Given the description of an element on the screen output the (x, y) to click on. 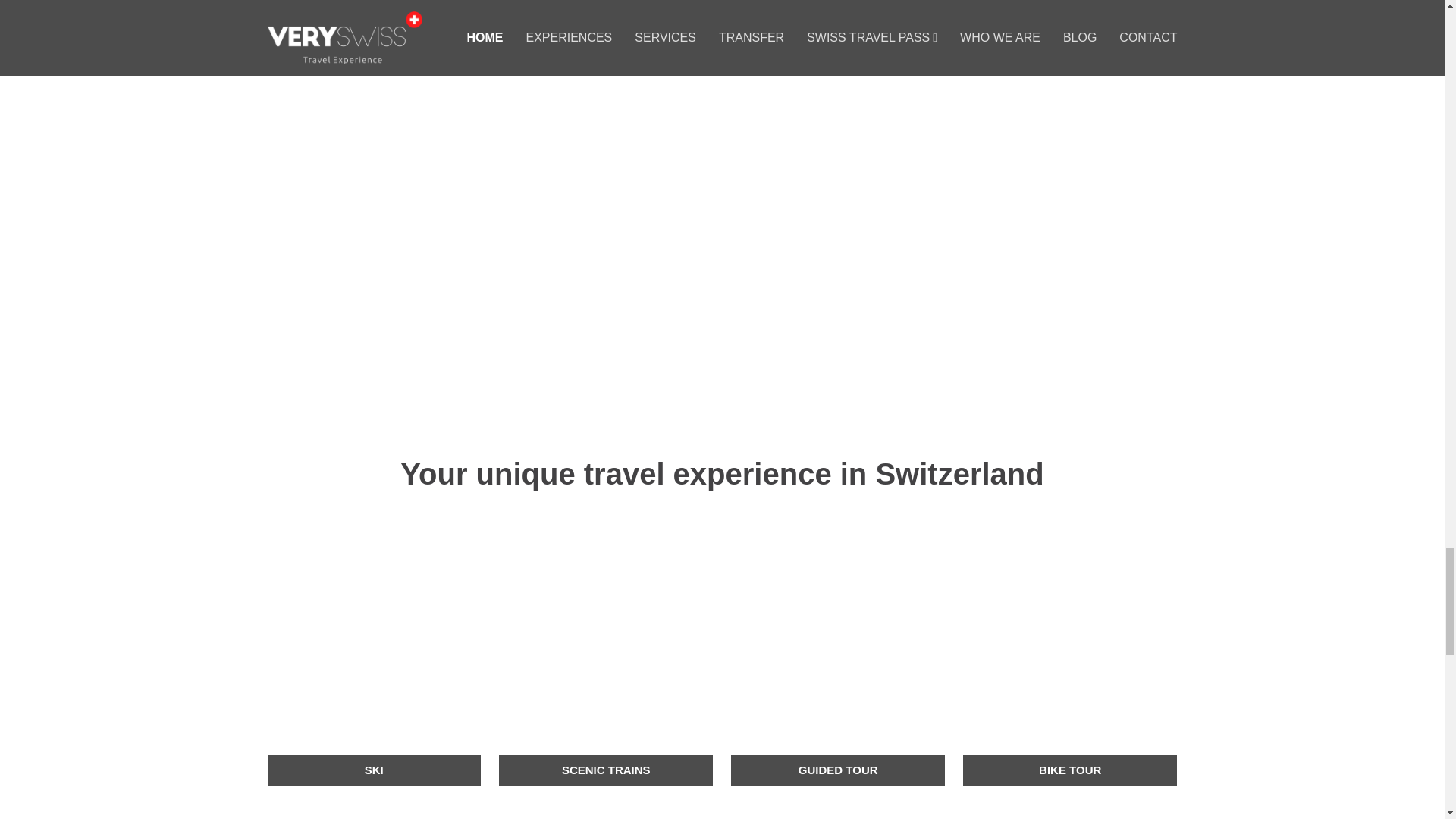
SUMMER (373, 811)
TRANSFER (837, 811)
SWISS TRAVEL PASS (1069, 811)
WINTER (606, 811)
